Given the description of an element on the screen output the (x, y) to click on. 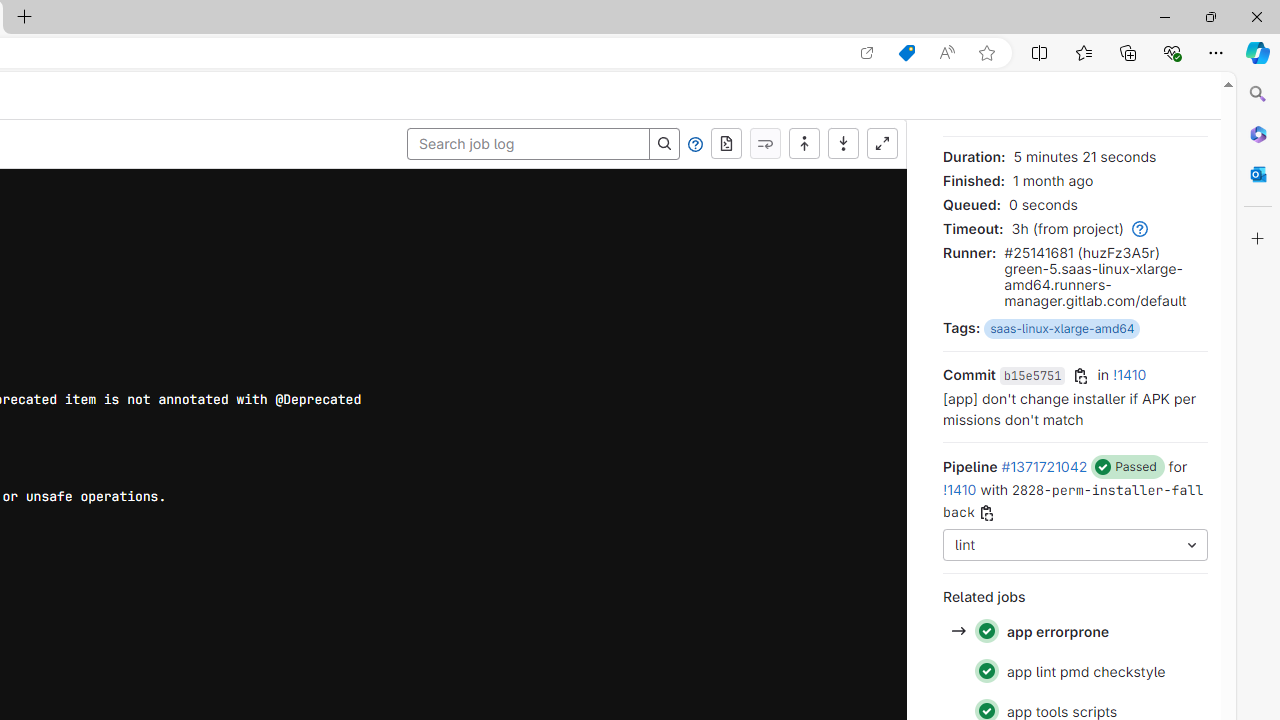
Status: Passed (986, 671)
Copy commit SHA (1081, 376)
Scroll to top (804, 143)
Scroll to next failure (765, 143)
lint (1075, 545)
Help (695, 144)
!1410 (959, 489)
Copy branch name (986, 513)
Class: gl-link (1137, 228)
Shopping in Microsoft Edge (906, 53)
